Given the description of an element on the screen output the (x, y) to click on. 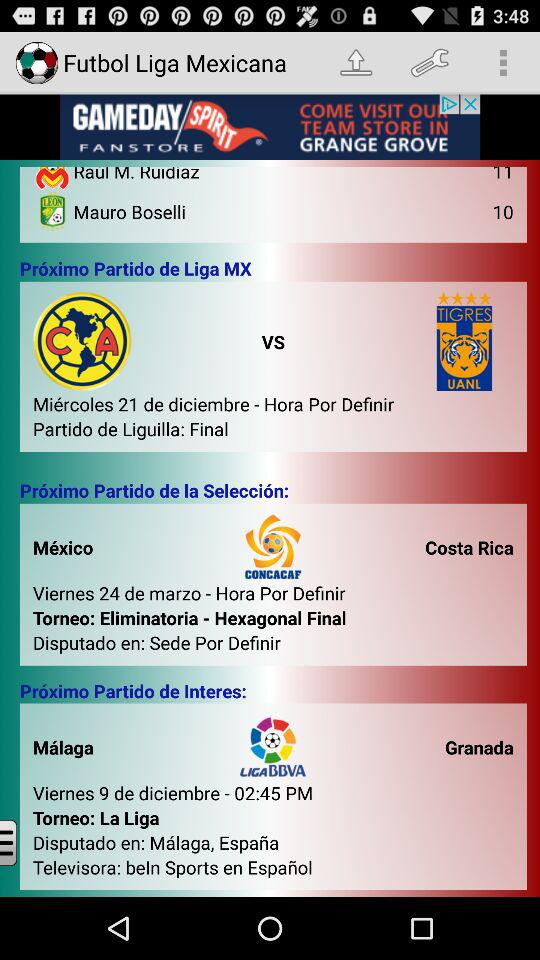
open menu bar (24, 842)
